Given the description of an element on the screen output the (x, y) to click on. 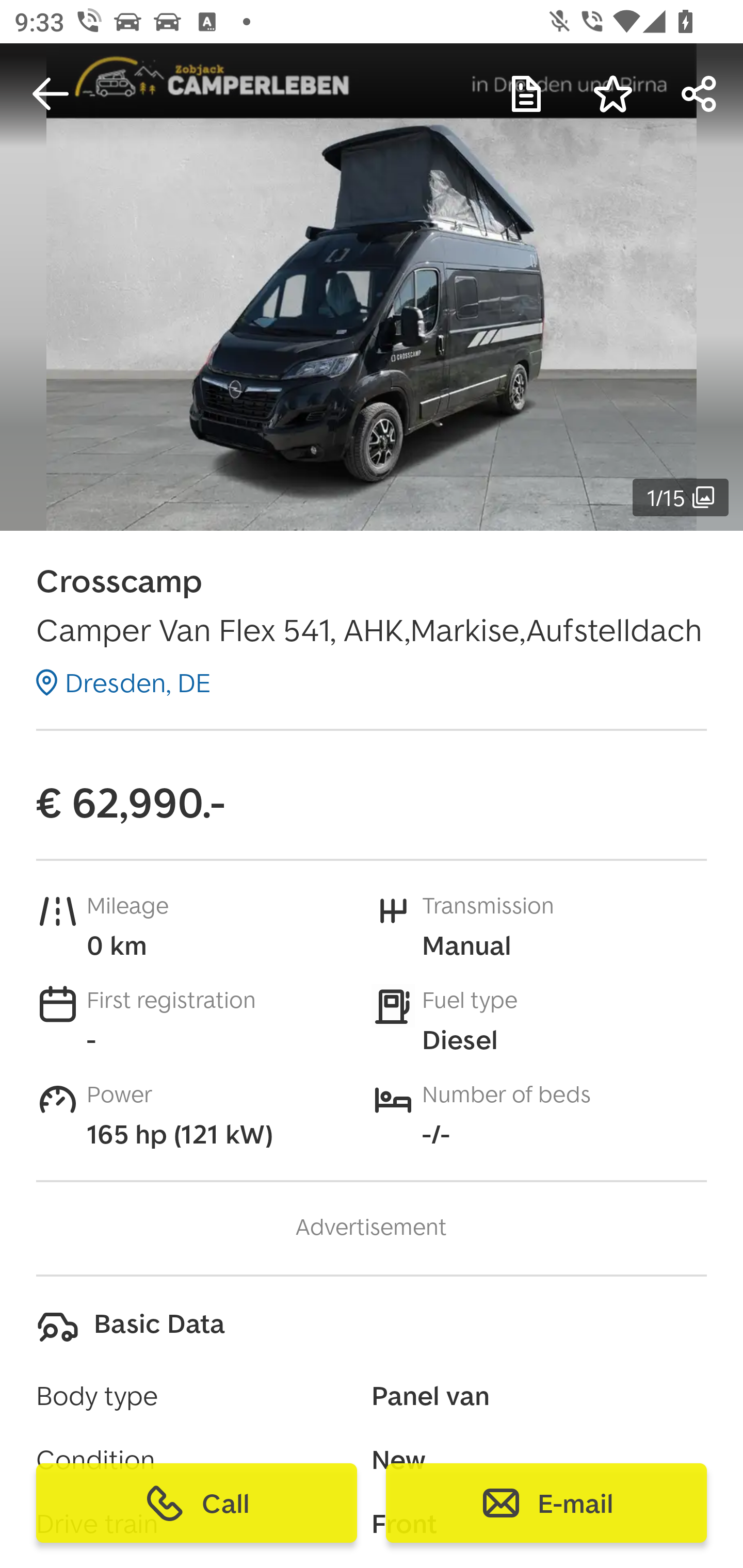
Navigate up (50, 93)
My Notes (525, 93)
Save (612, 93)
Forward (699, 93)
Dresden, DE (123, 681)
Call (196, 1502)
E-mail (545, 1502)
